Given the description of an element on the screen output the (x, y) to click on. 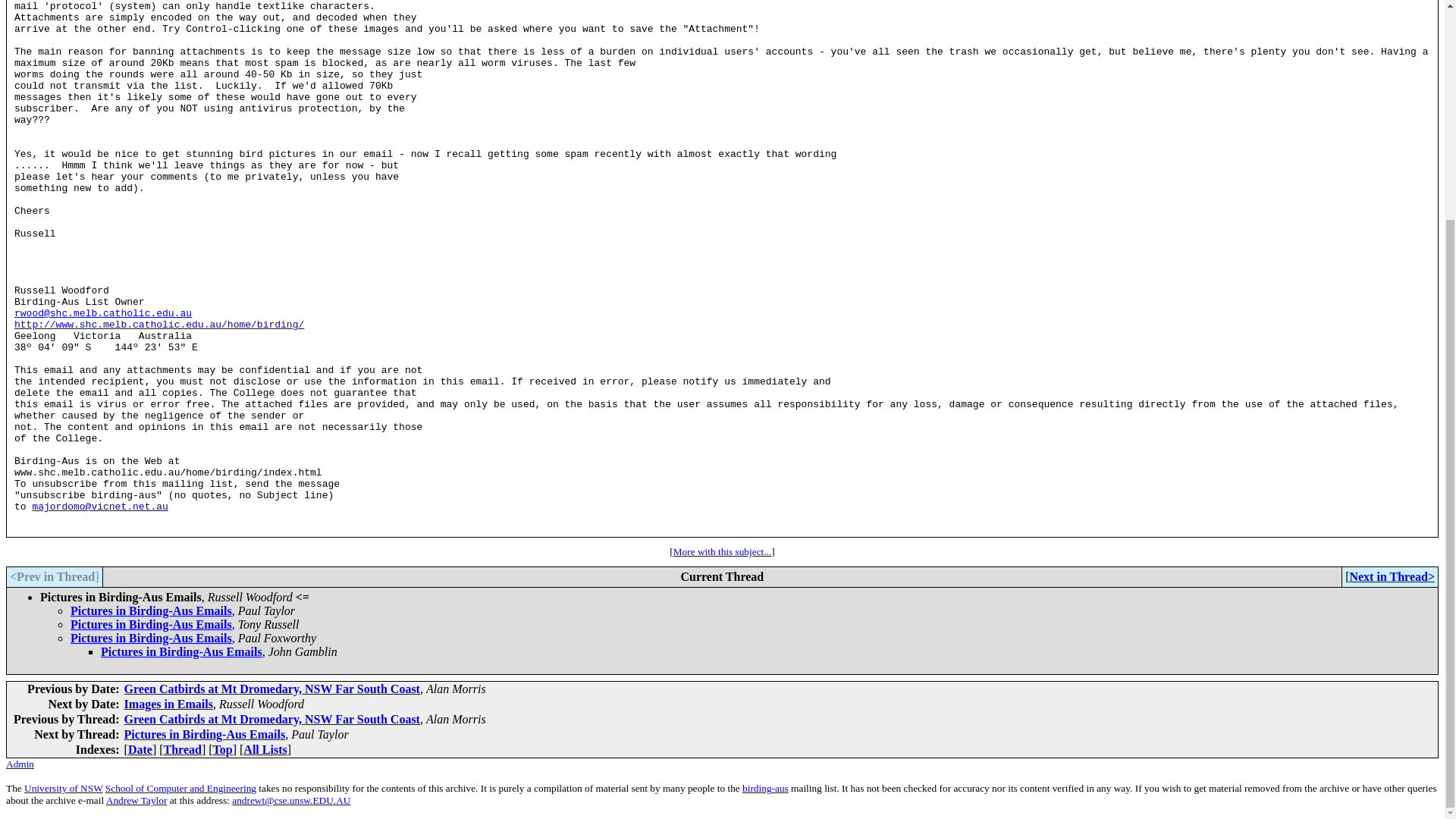
Andrew Taylor (136, 799)
Thread (182, 748)
School of Computer and Engineering (180, 787)
All Lists (264, 748)
Images in Emails (167, 703)
Green Catbirds at Mt Dromedary, NSW Far South Coast (271, 688)
Top (222, 748)
Pictures in Birding-Aus Emails (150, 637)
birding-aus (765, 787)
Green Catbirds at Mt Dromedary, NSW Far South Coast (271, 718)
Pictures in Birding-Aus Emails (181, 651)
More with this subject... (721, 551)
Date (140, 748)
Pictures in Birding-Aus Emails (150, 610)
Pictures in Birding-Aus Emails (150, 624)
